Given the description of an element on the screen output the (x, y) to click on. 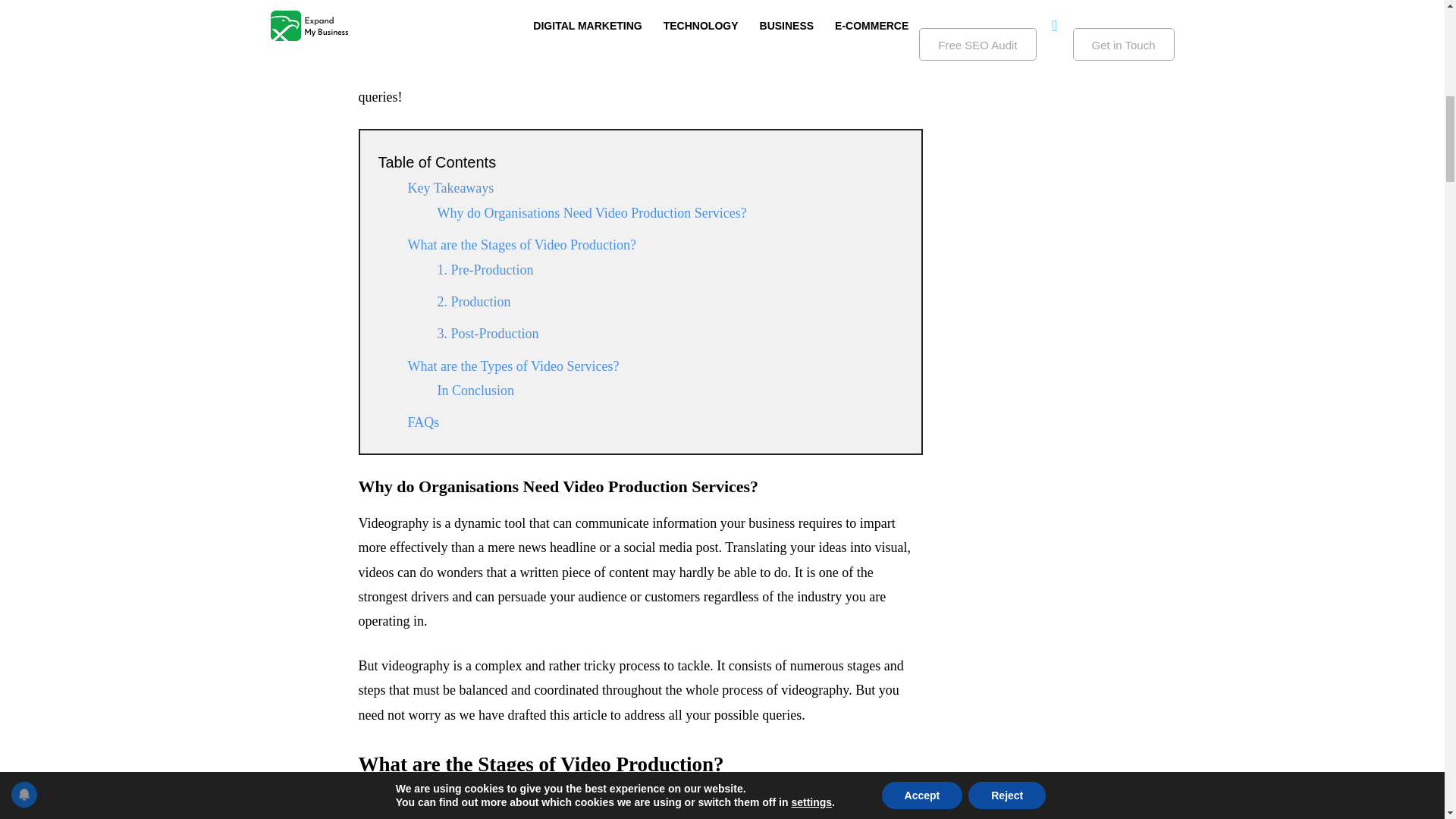
2. Production (473, 301)
videography services (496, 72)
What are the Types of Video Services? (513, 365)
In Conclusion (474, 390)
1. Pre-Production  (485, 269)
videography services (496, 72)
Key Takeaways (451, 187)
3. Post-Production (487, 333)
Why do Organisations Need Video Production Services? (590, 212)
FAQs (423, 421)
What are the Stages of Video Production? (522, 244)
